Given the description of an element on the screen output the (x, y) to click on. 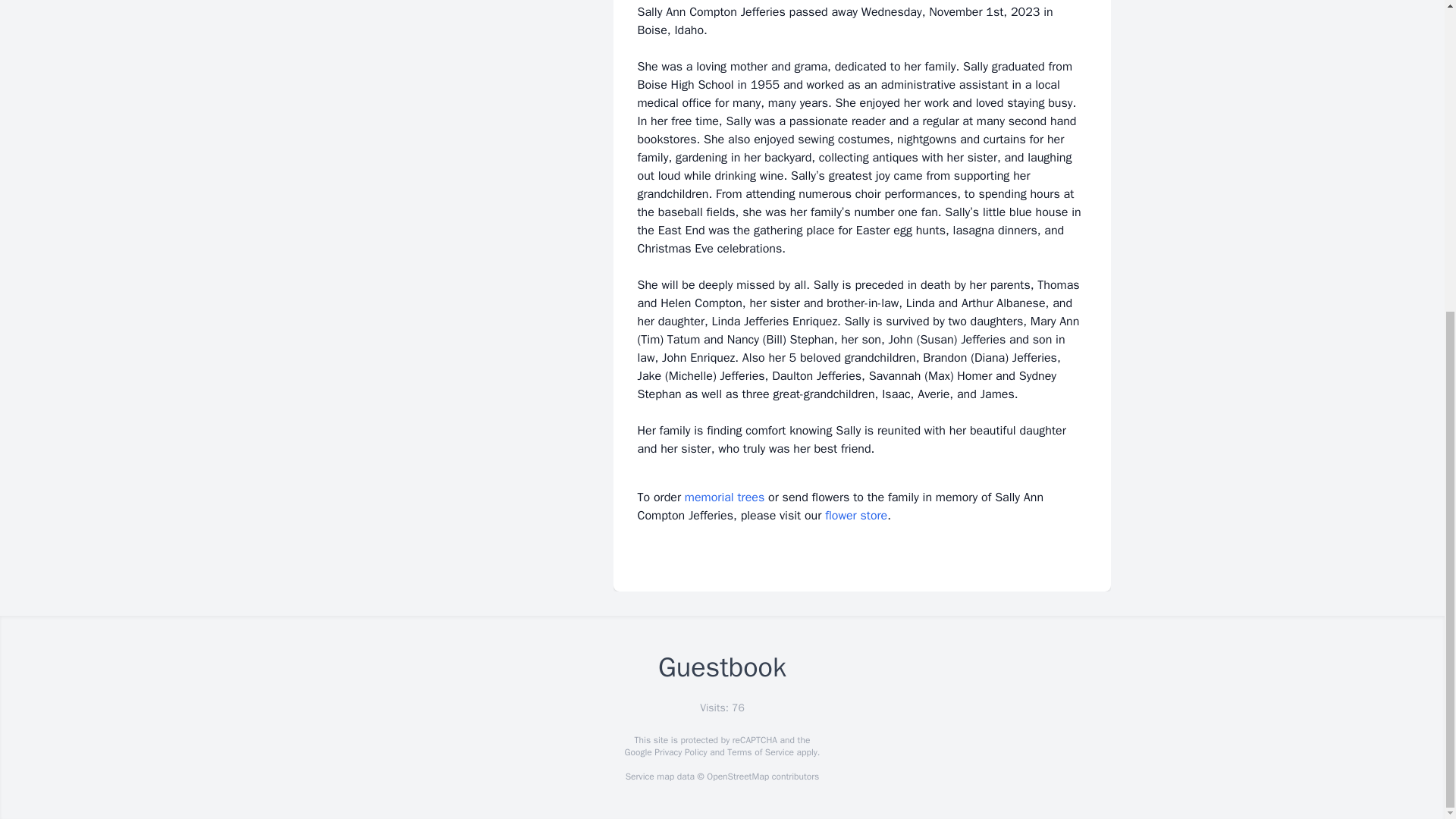
memorial trees (724, 497)
OpenStreetMap (737, 776)
flower store (855, 515)
Privacy Policy (679, 752)
Terms of Service (759, 752)
